Given the description of an element on the screen output the (x, y) to click on. 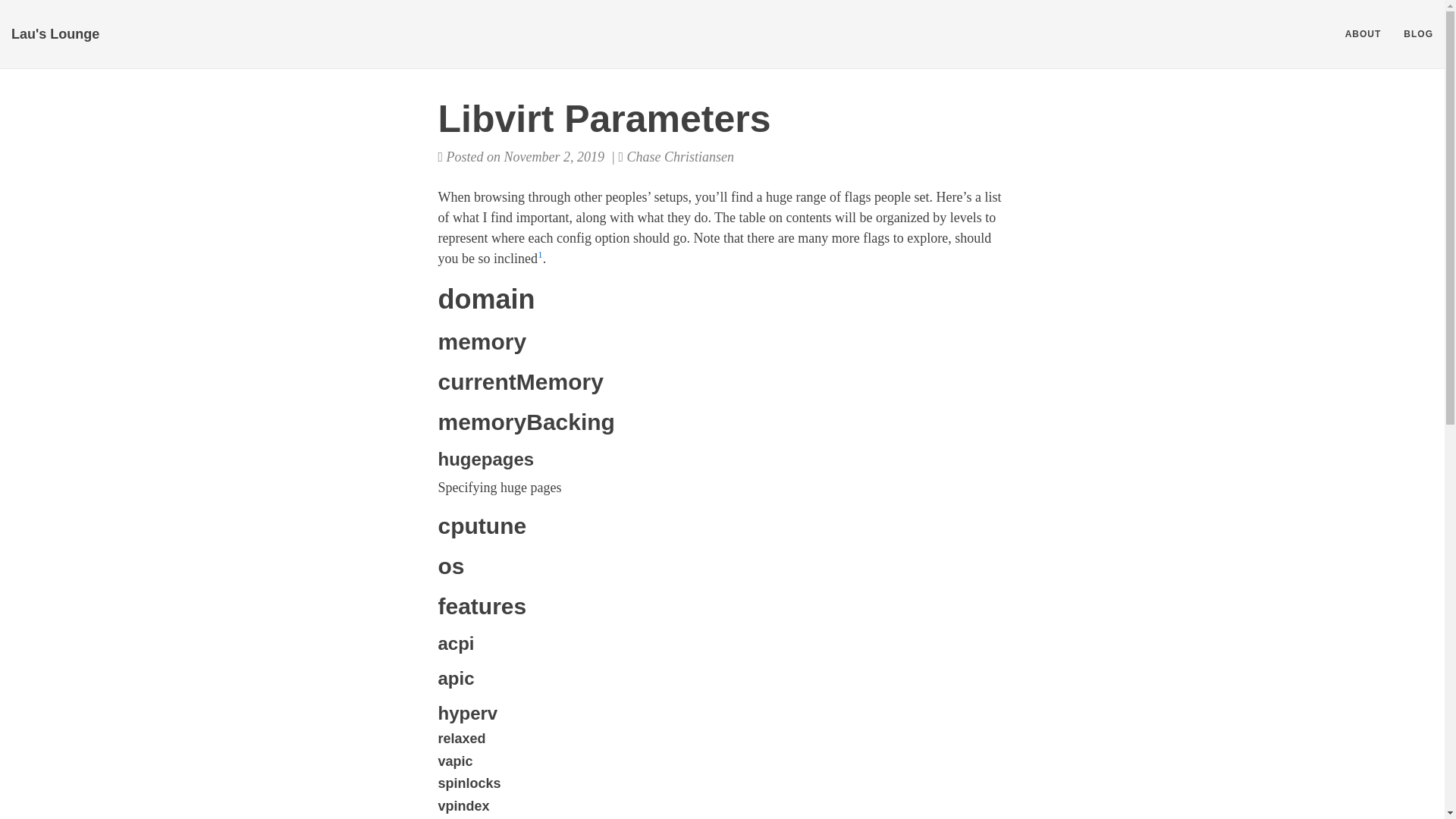
Lau's Lounge (55, 34)
About (1363, 34)
ABOUT (1363, 34)
